Given the description of an element on the screen output the (x, y) to click on. 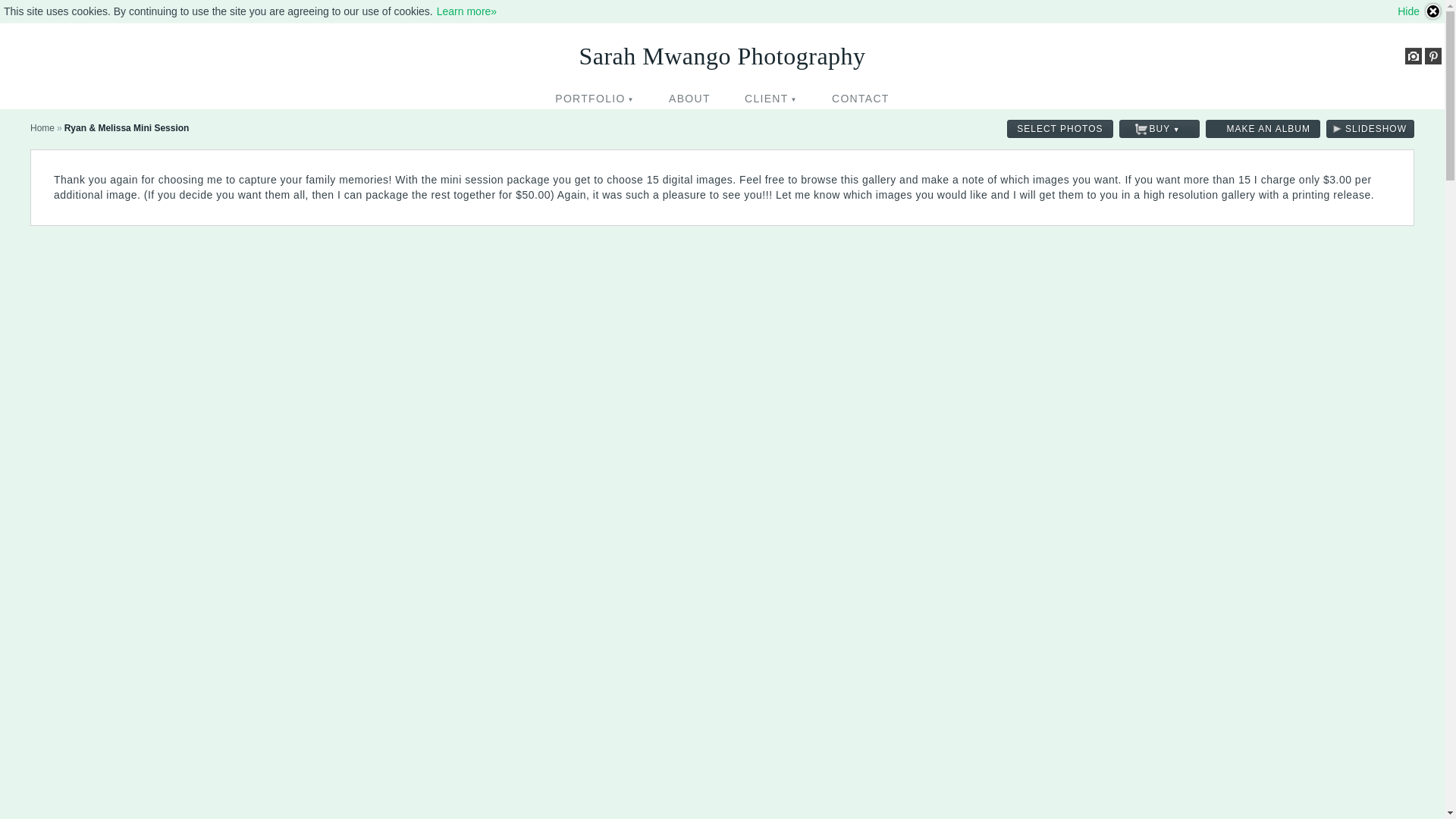
Sarah Mwango Photography (721, 55)
CONTACT (860, 98)
ABOUT (689, 98)
Sarah Mwango Photography (721, 55)
Sarah Mwango Photography (42, 127)
Home (42, 127)
Hide (1419, 11)
